Given the description of an element on the screen output the (x, y) to click on. 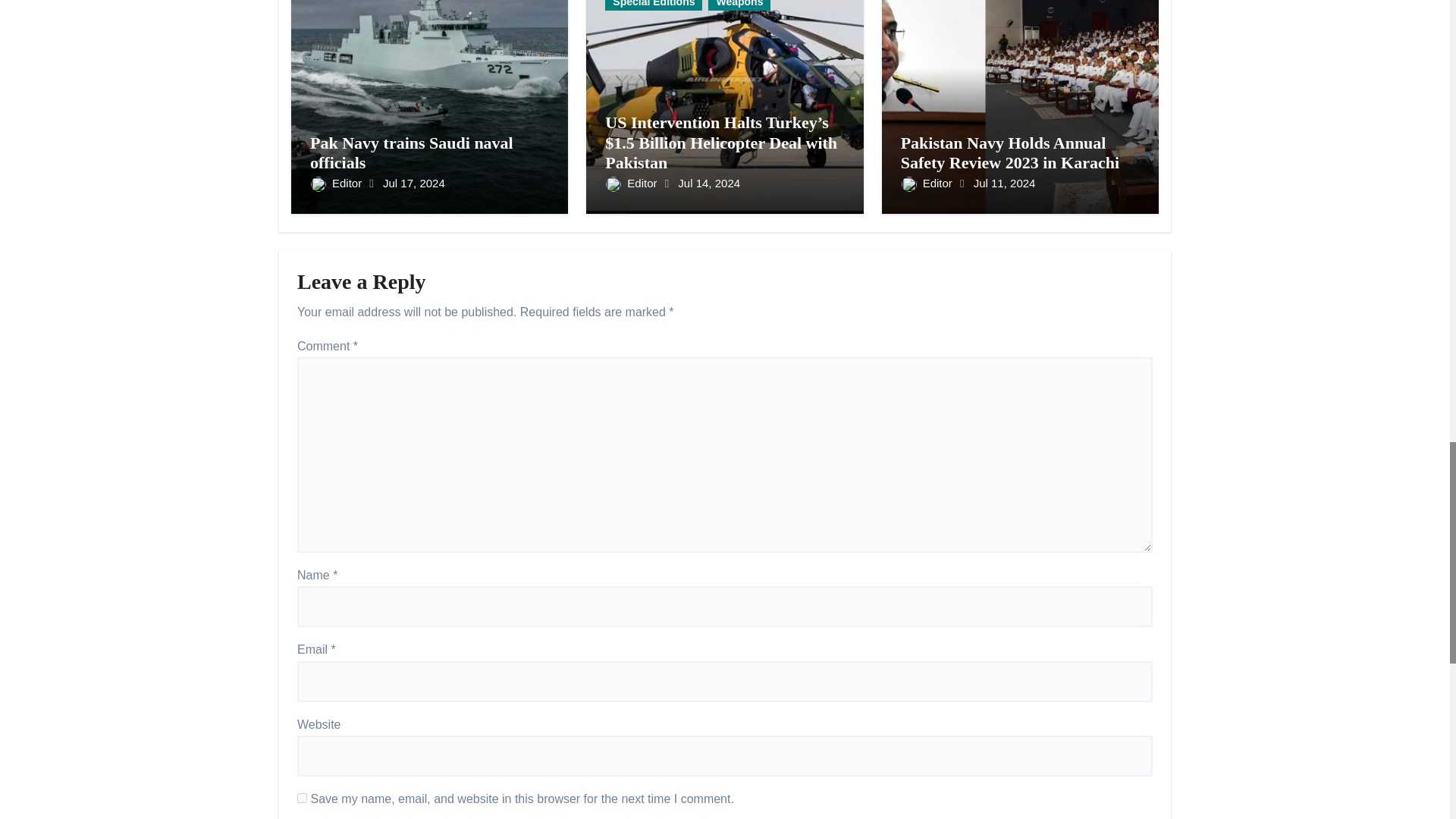
yes (302, 798)
Permalink to: Pak Navy trains Saudi naval officials (411, 152)
